Given the description of an element on the screen output the (x, y) to click on. 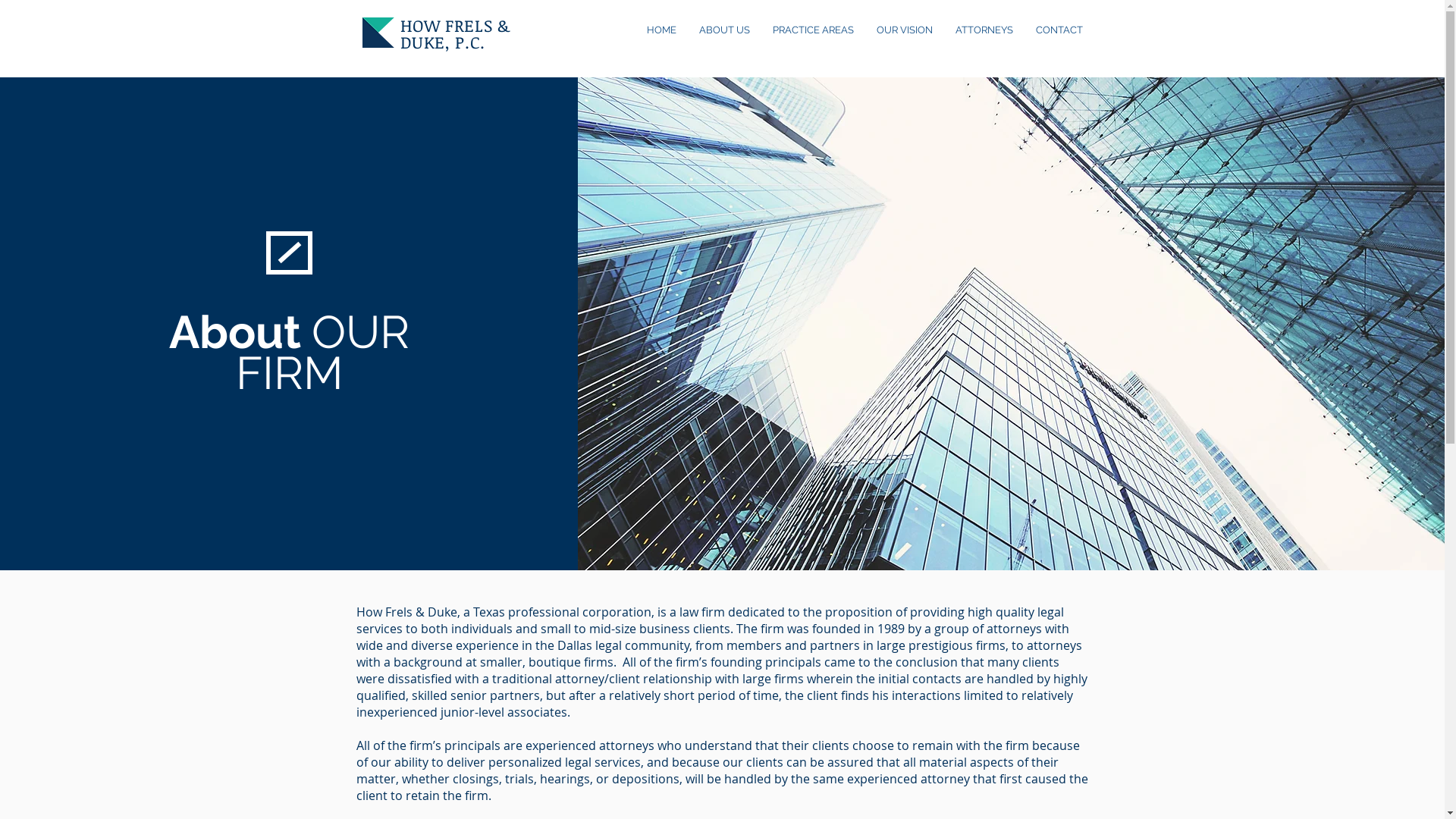
ABOUT US Element type: text (723, 29)
PRACTICE AREAS Element type: text (813, 29)
CONTACT Element type: text (1058, 29)
ATTORNEYS Element type: text (983, 29)
HOW FRELS & Element type: text (454, 24)
OUR VISION Element type: text (903, 29)
HOME Element type: text (661, 29)
DUKE, P.C. Element type: text (443, 41)
